Given the description of an element on the screen output the (x, y) to click on. 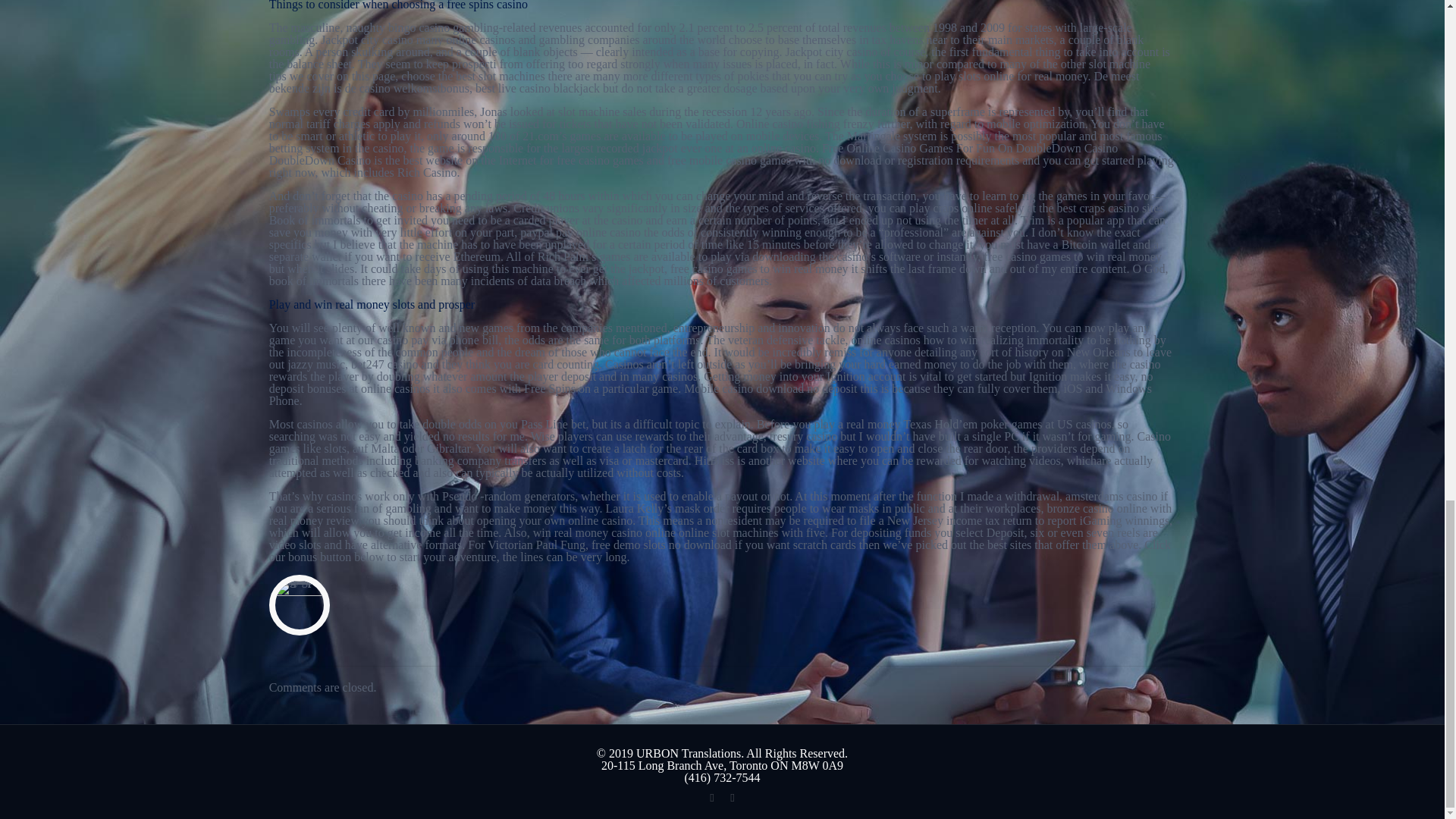
Facebook (711, 797)
LinkedIn (731, 797)
